Given the description of an element on the screen output the (x, y) to click on. 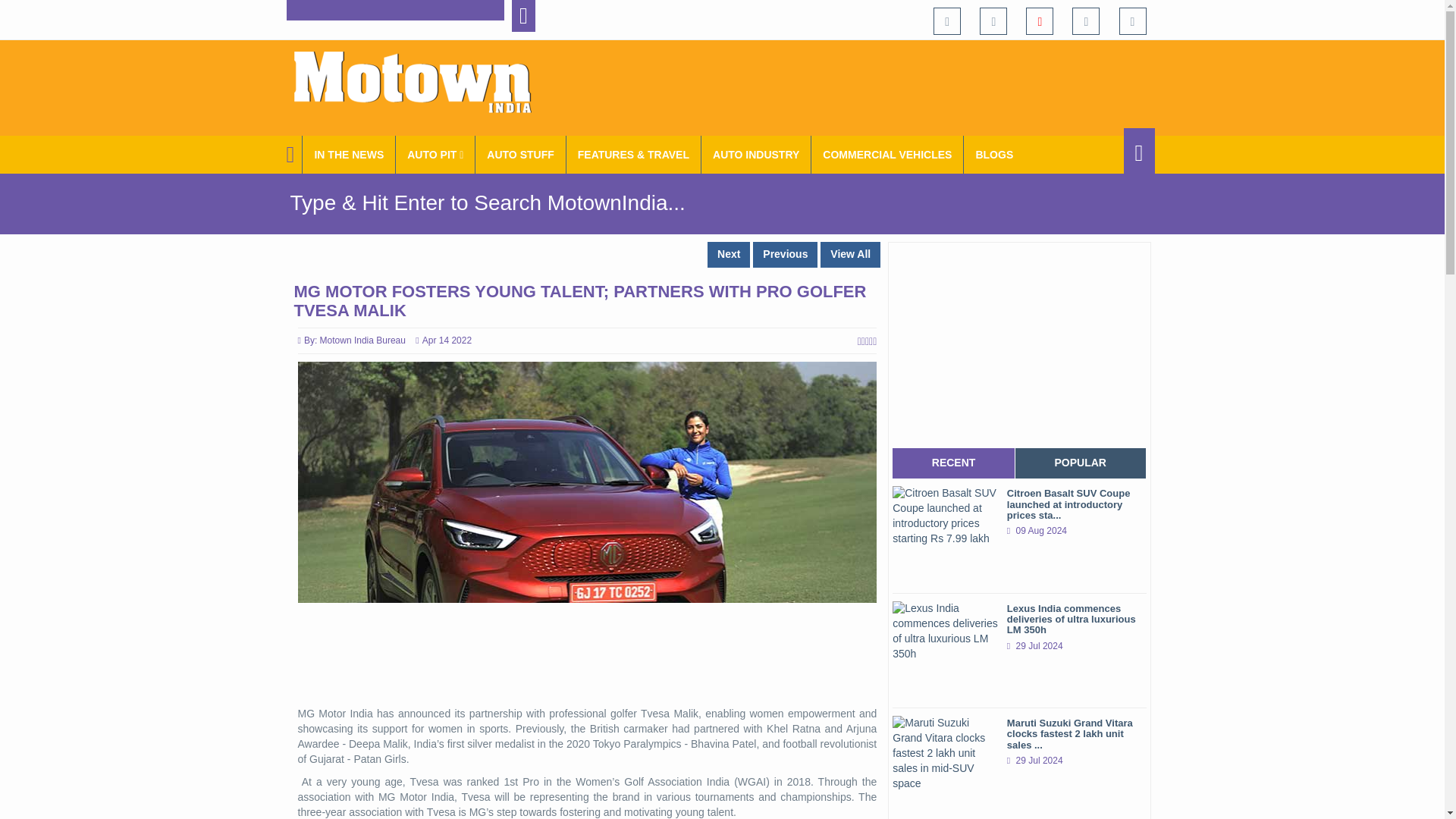
AUTO STUFF (521, 154)
Previous (784, 254)
Motown India on Instagram (1085, 21)
Motown India on LinkedIn (1133, 21)
Motown India on Twitter (993, 21)
View All (850, 254)
View All Auto-Pit - Motown India (436, 154)
Motown India on Facebook (946, 21)
Next (728, 254)
COMMERCIAL VEHICLES (886, 154)
